Given the description of an element on the screen output the (x, y) to click on. 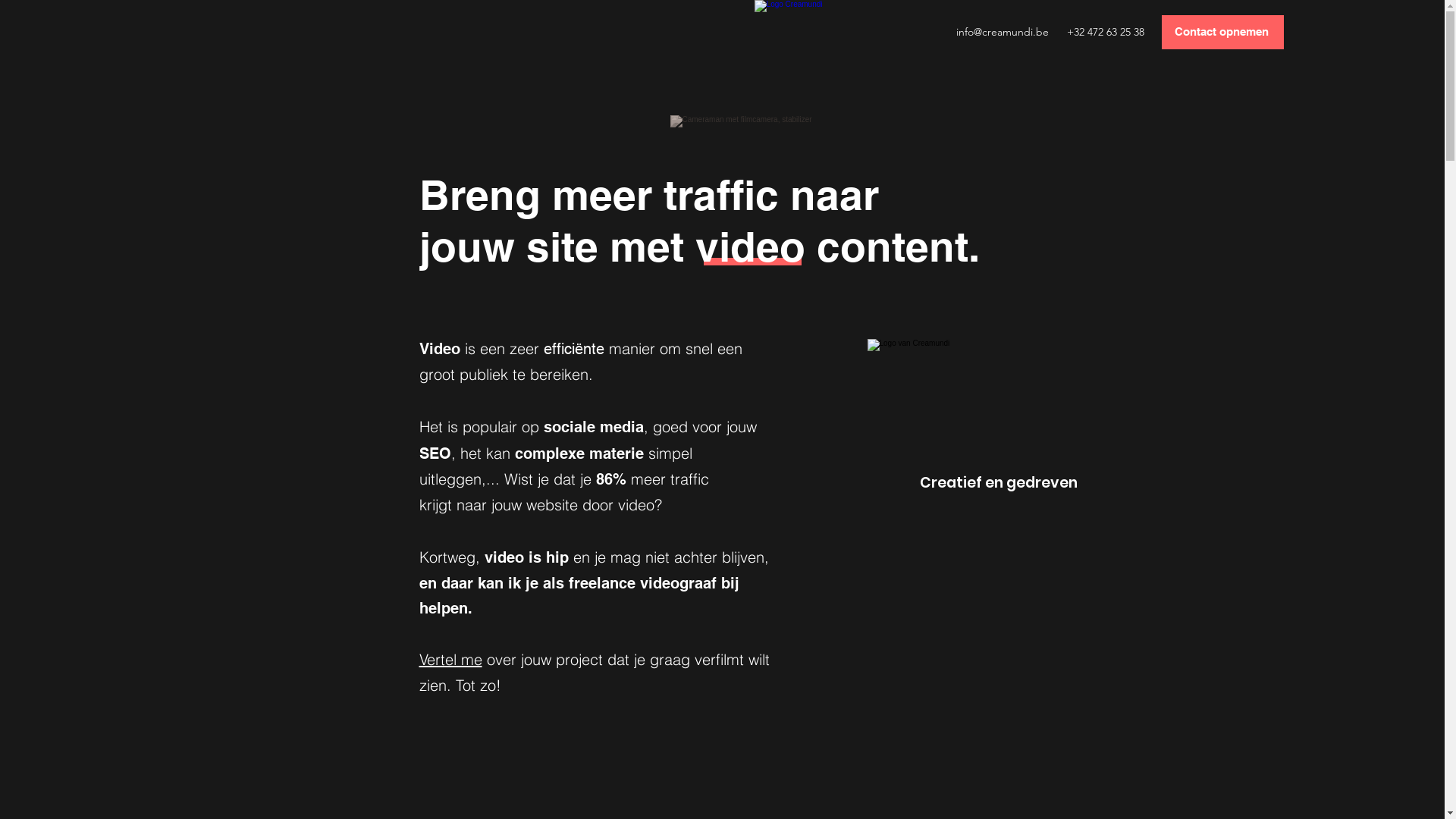
info@creamundi.be Element type: text (1002, 31)
Contact opnemen Element type: text (1222, 32)
Video Element type: text (438, 348)
Vertel me Element type: text (449, 658)
